Given the description of an element on the screen output the (x, y) to click on. 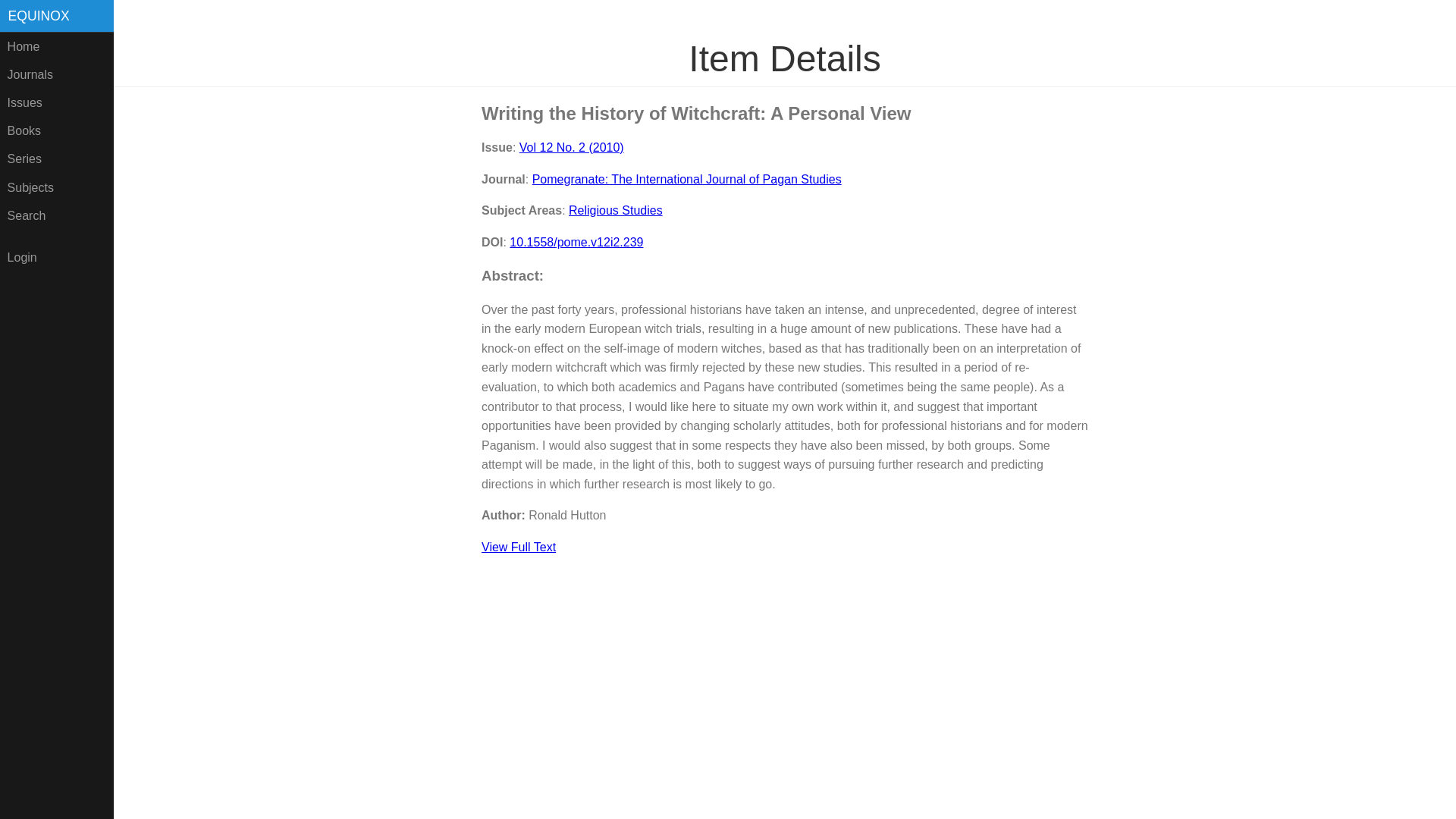
View Full Text (518, 546)
Series (56, 159)
Search (56, 215)
Pomegranate: The International Journal of Pagan Studies (686, 178)
Issues (56, 102)
Login (56, 257)
EQUINOX (56, 15)
Journals (56, 74)
Religious Studies (615, 210)
Subjects (56, 187)
